Given the description of an element on the screen output the (x, y) to click on. 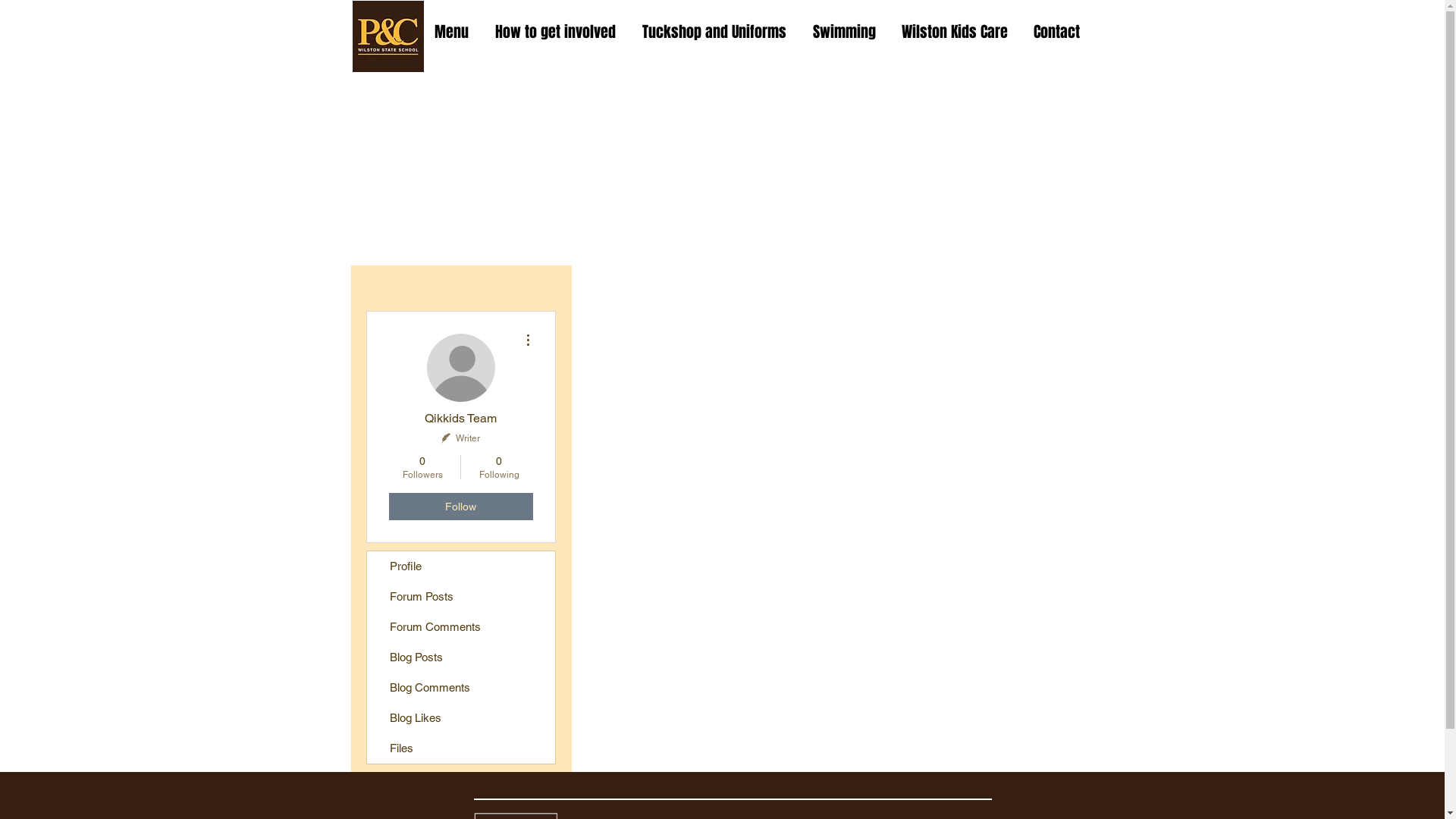
Blog Comments Element type: text (461, 687)
How to get involved Element type: text (556, 31)
0
Followers Element type: text (421, 466)
Tuckshop and Uniforms Element type: text (715, 31)
Profile Element type: text (461, 566)
Forum Comments Element type: text (461, 626)
Blog Likes Element type: text (461, 717)
Blog Posts Element type: text (461, 657)
Follow Element type: text (460, 506)
Forum Posts Element type: text (461, 596)
0
Following Element type: text (499, 466)
Contact Element type: text (1058, 31)
Swimming Element type: text (844, 31)
Files Element type: text (461, 748)
Menu Element type: text (453, 31)
Wilston Kids Care Element type: text (956, 31)
